Given the description of an element on the screen output the (x, y) to click on. 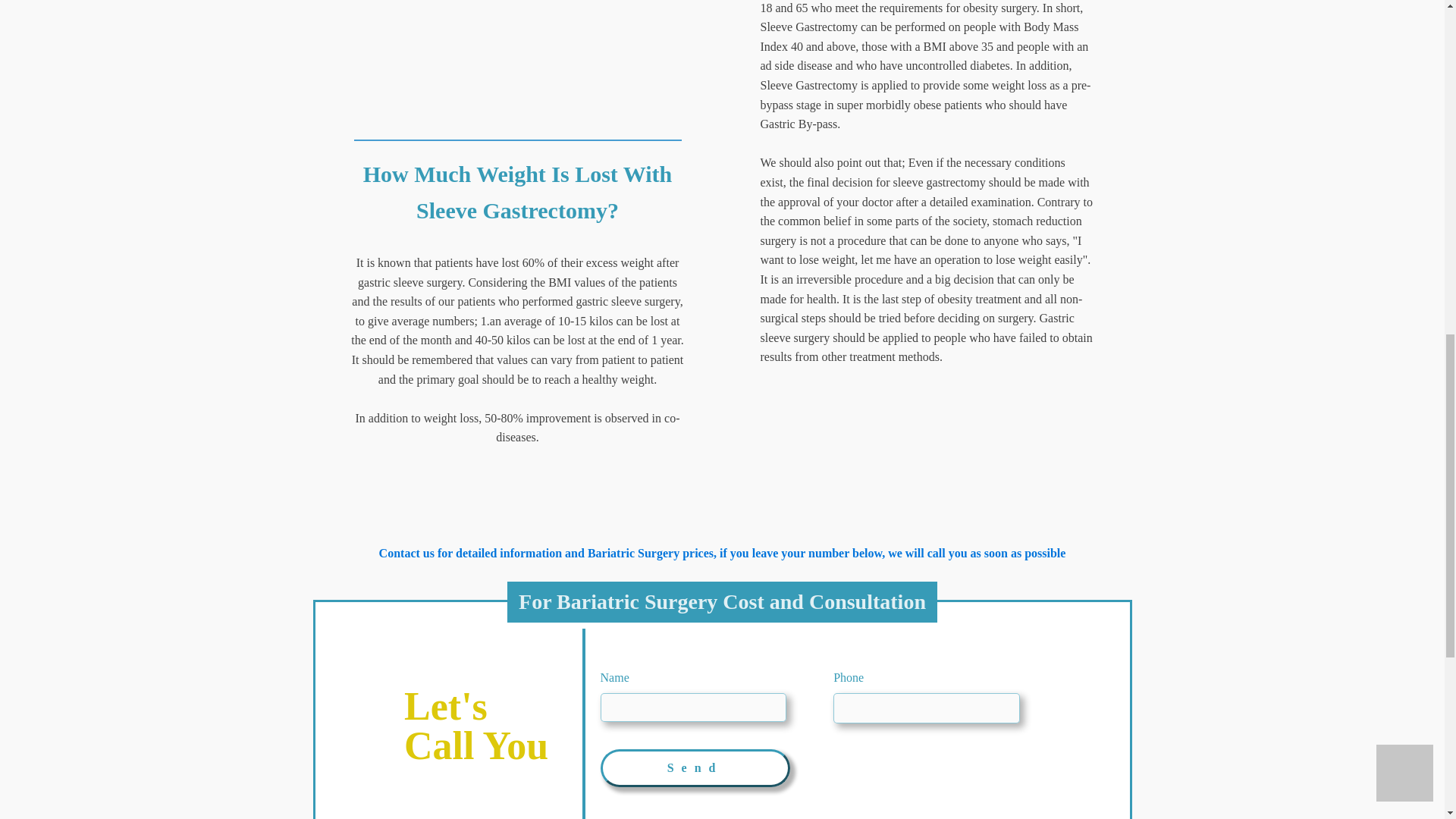
Send (694, 768)
Send (694, 768)
